Given the description of an element on the screen output the (x, y) to click on. 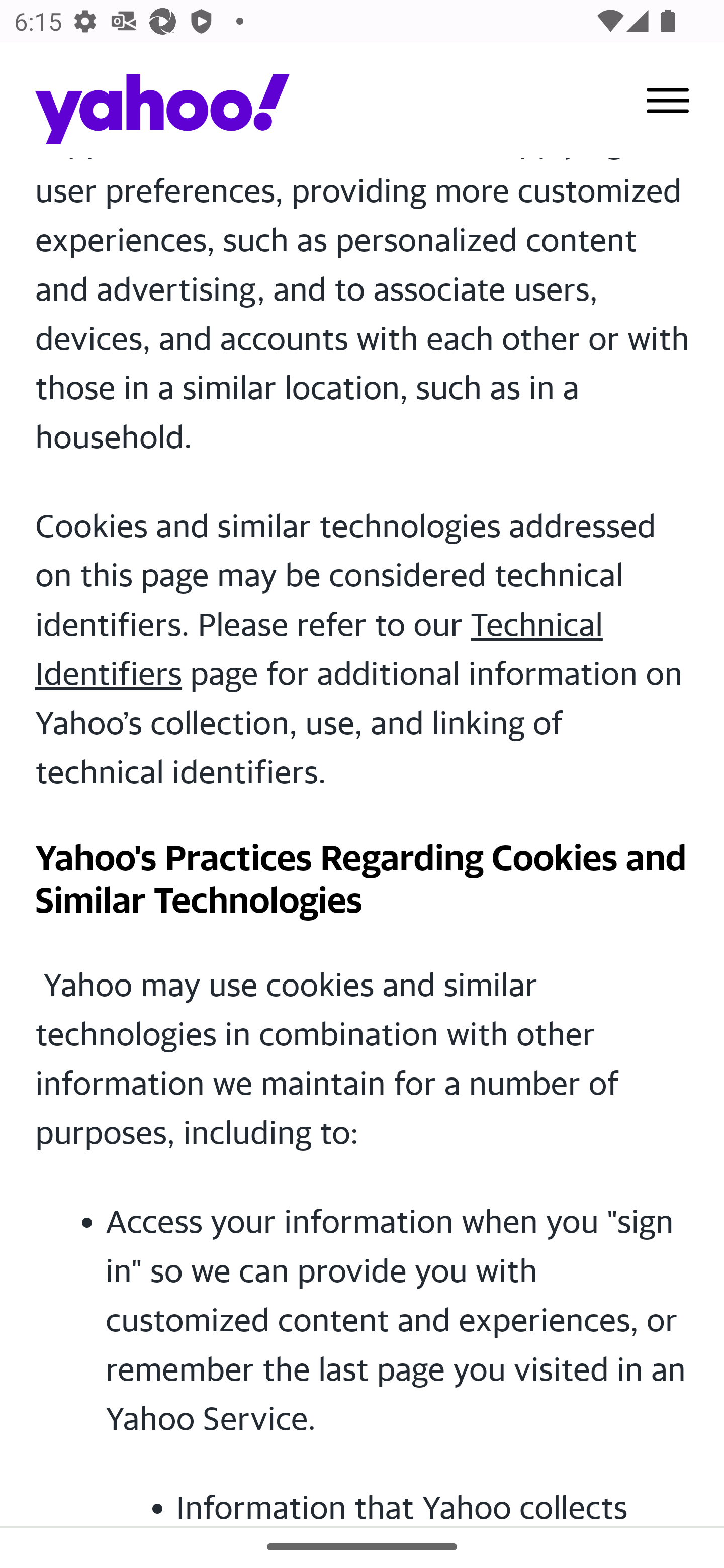
Technical Identifiers (319, 649)
